Given the description of an element on the screen output the (x, y) to click on. 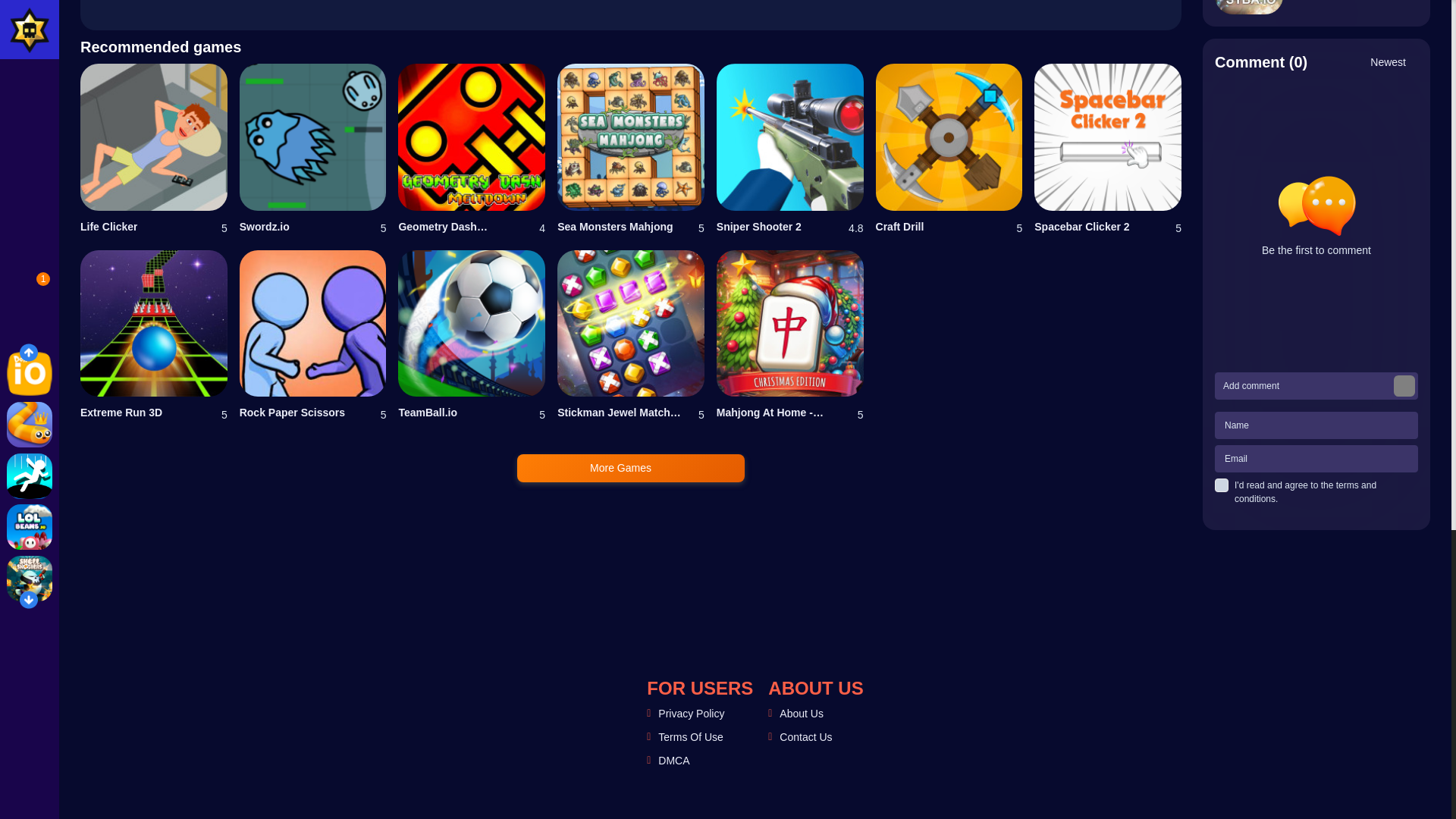
Contact (804, 736)
DMCA (673, 760)
Terms of Use (690, 736)
Privacy Policy (690, 713)
About Us (801, 713)
